Given the description of an element on the screen output the (x, y) to click on. 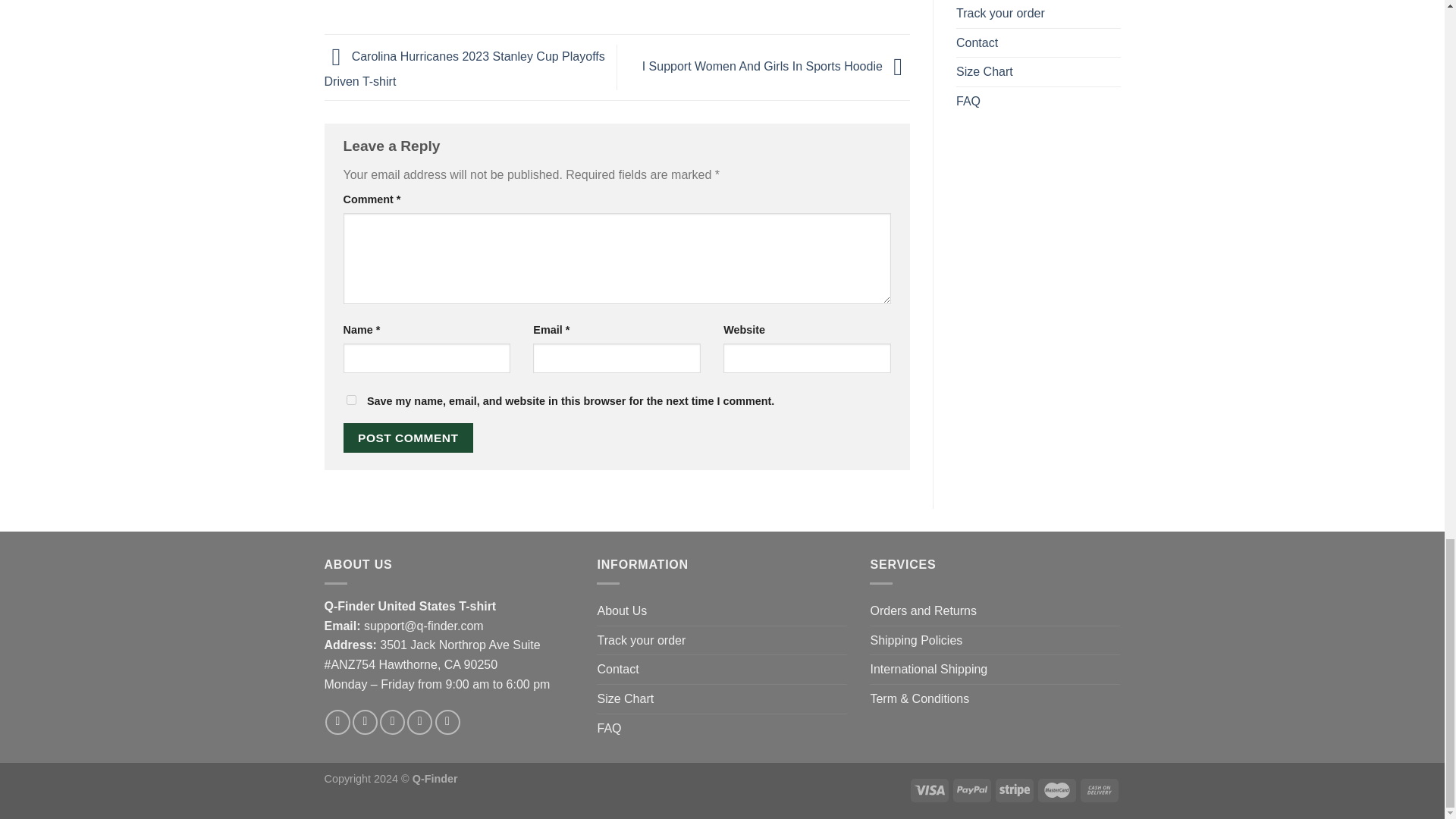
I Support Women And Girls In Sports Hoodie (776, 65)
yes (350, 399)
Carolina Hurricanes 2023 Stanley Cup Playoffs Driven T-shirt (464, 68)
Post Comment (407, 437)
Follow on Facebook (337, 722)
Post Comment (407, 437)
Follow on Instagram (364, 722)
